Given the description of an element on the screen output the (x, y) to click on. 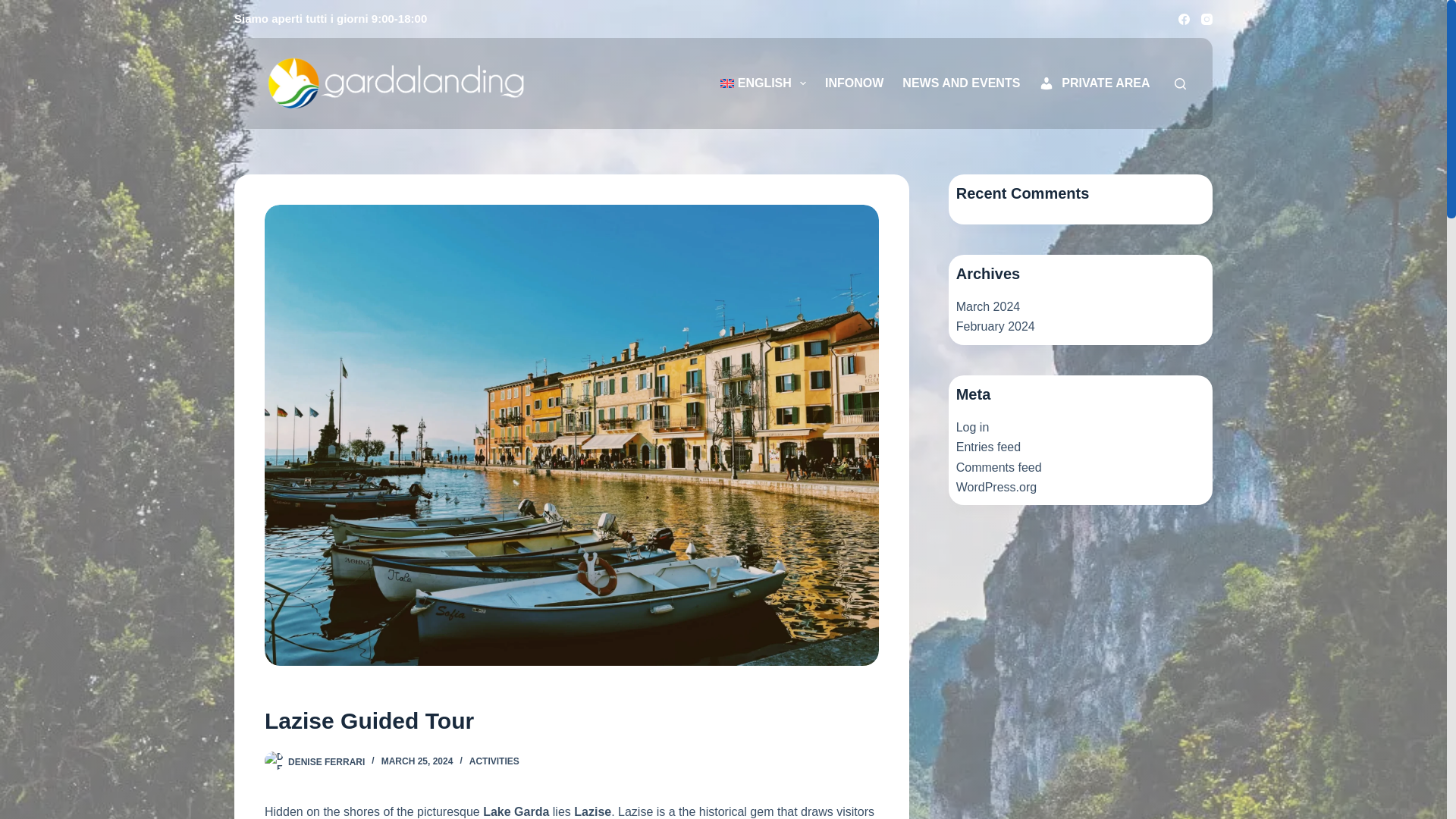
DENISE FERRARI (326, 760)
English (762, 82)
PRIVATE AREA (1093, 82)
ACTIVITIES (493, 760)
NEWS AND EVENTS (961, 82)
ENGLISH (762, 82)
Log in (973, 427)
Posts by Denise Ferrari (326, 760)
Entries feed (988, 446)
Skip to content (15, 7)
